Given the description of an element on the screen output the (x, y) to click on. 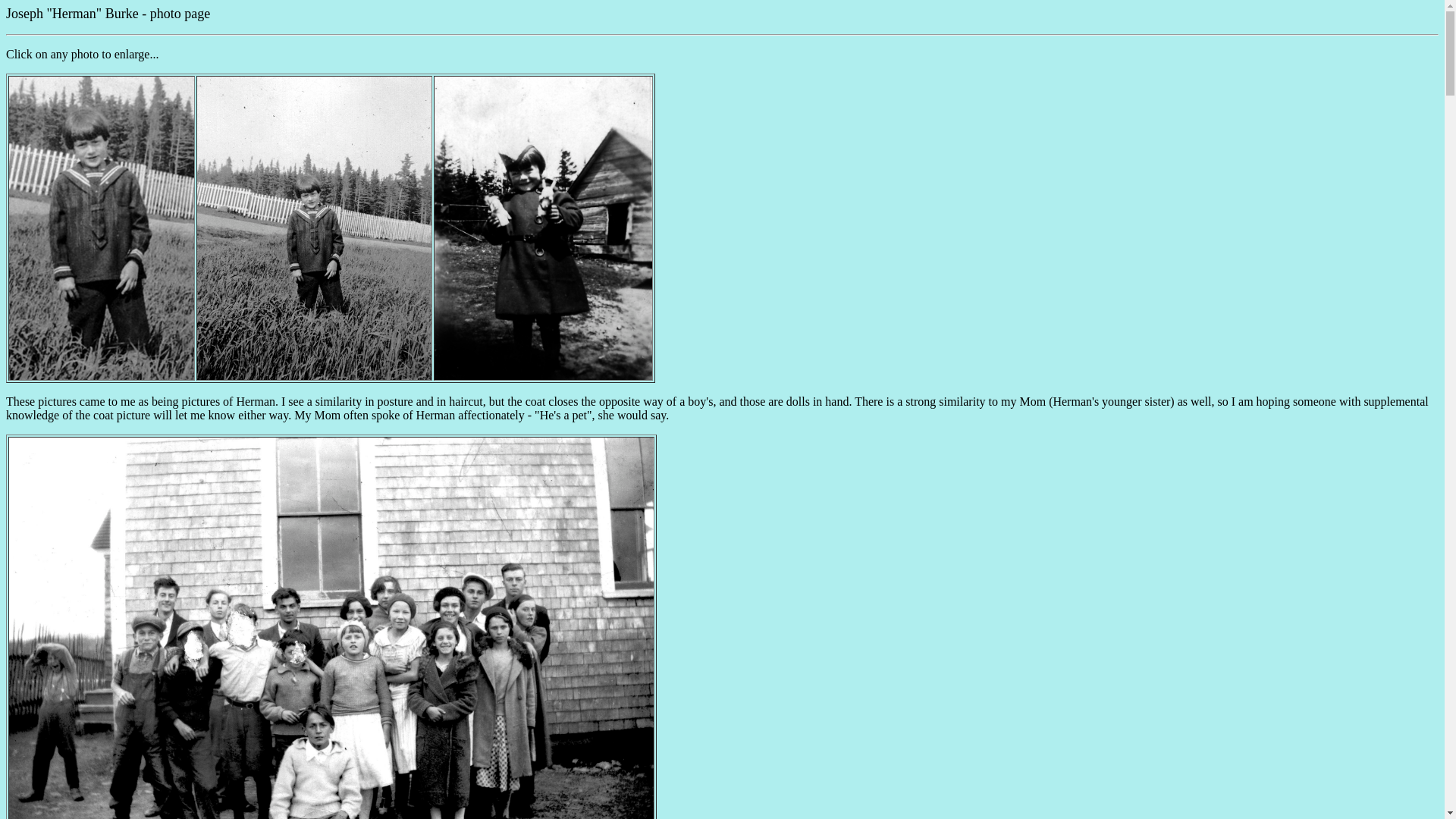
Herman, age 10 perhaps. (313, 375)
Herman, age 10 perhaps. (100, 375)
